Given the description of an element on the screen output the (x, y) to click on. 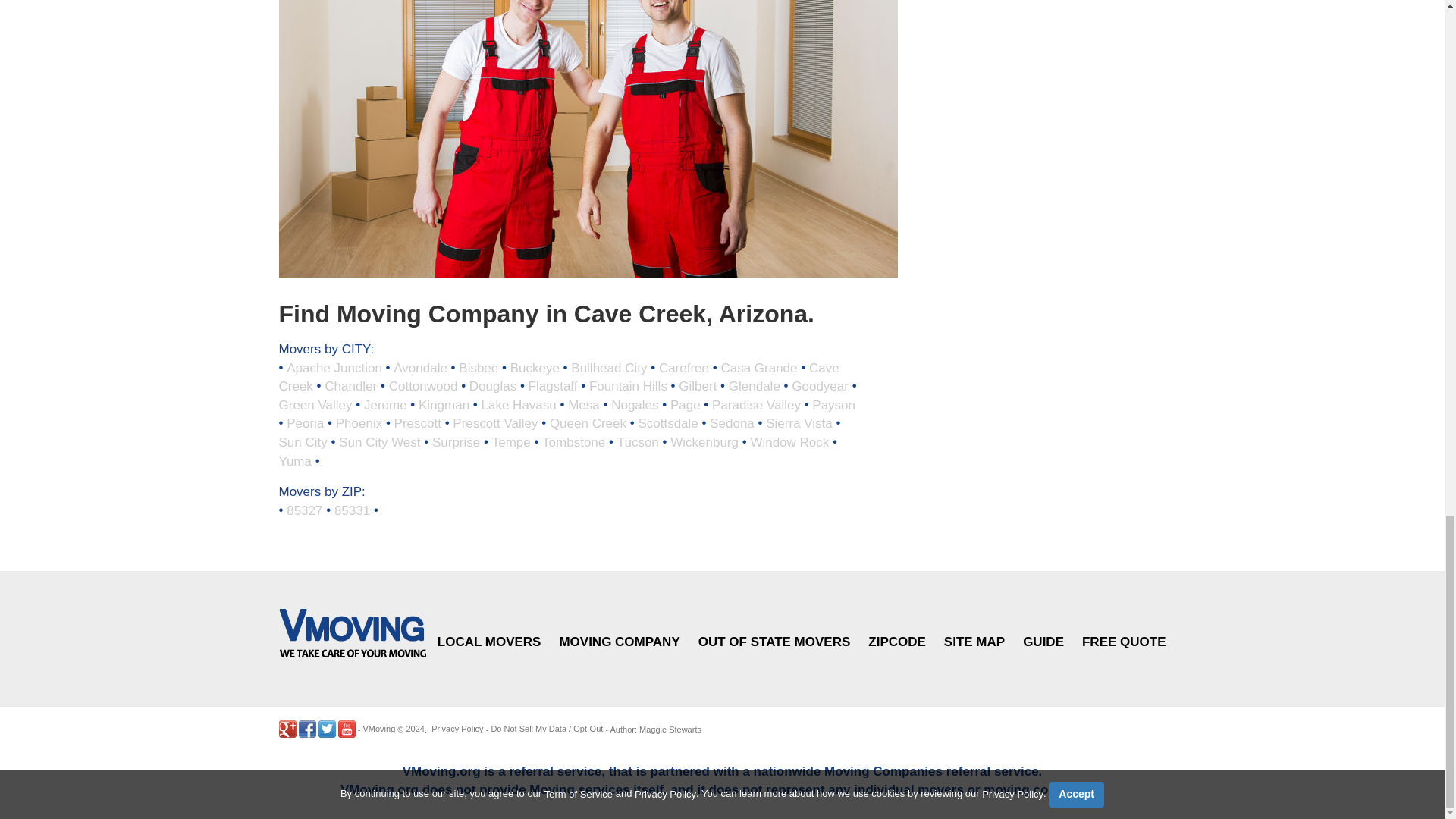
V Moving Youtube (346, 728)
Green Valley (315, 404)
Nogales (634, 404)
Kingman (443, 404)
Lake Havasu (518, 404)
Douglas (492, 386)
Carefree (684, 367)
Cottonwood (423, 386)
Avondale (419, 367)
V Moving Facebook (306, 728)
